Given the description of an element on the screen output the (x, y) to click on. 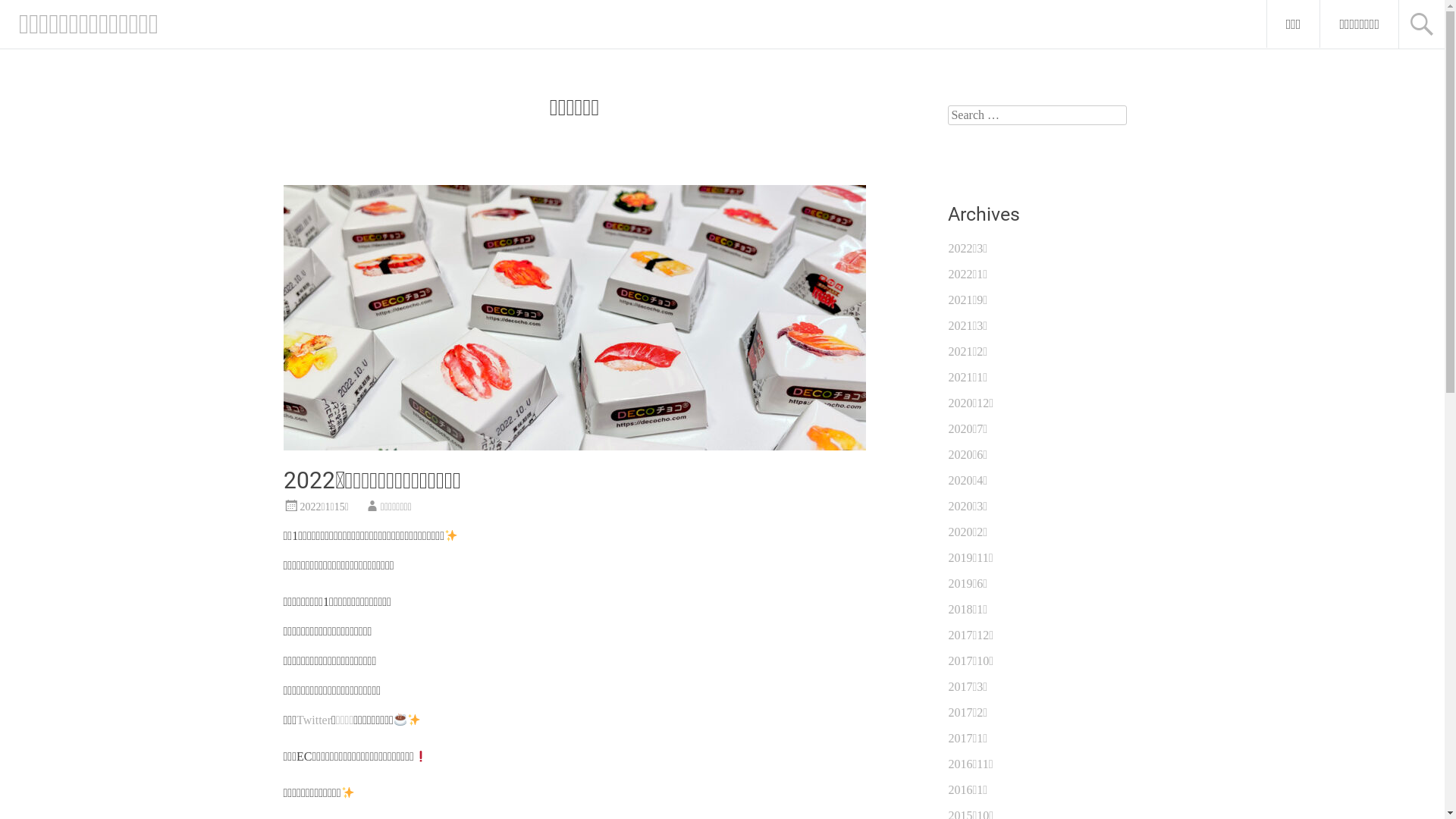
Search Element type: text (26, 12)
Twitter Element type: text (313, 719)
